Given the description of an element on the screen output the (x, y) to click on. 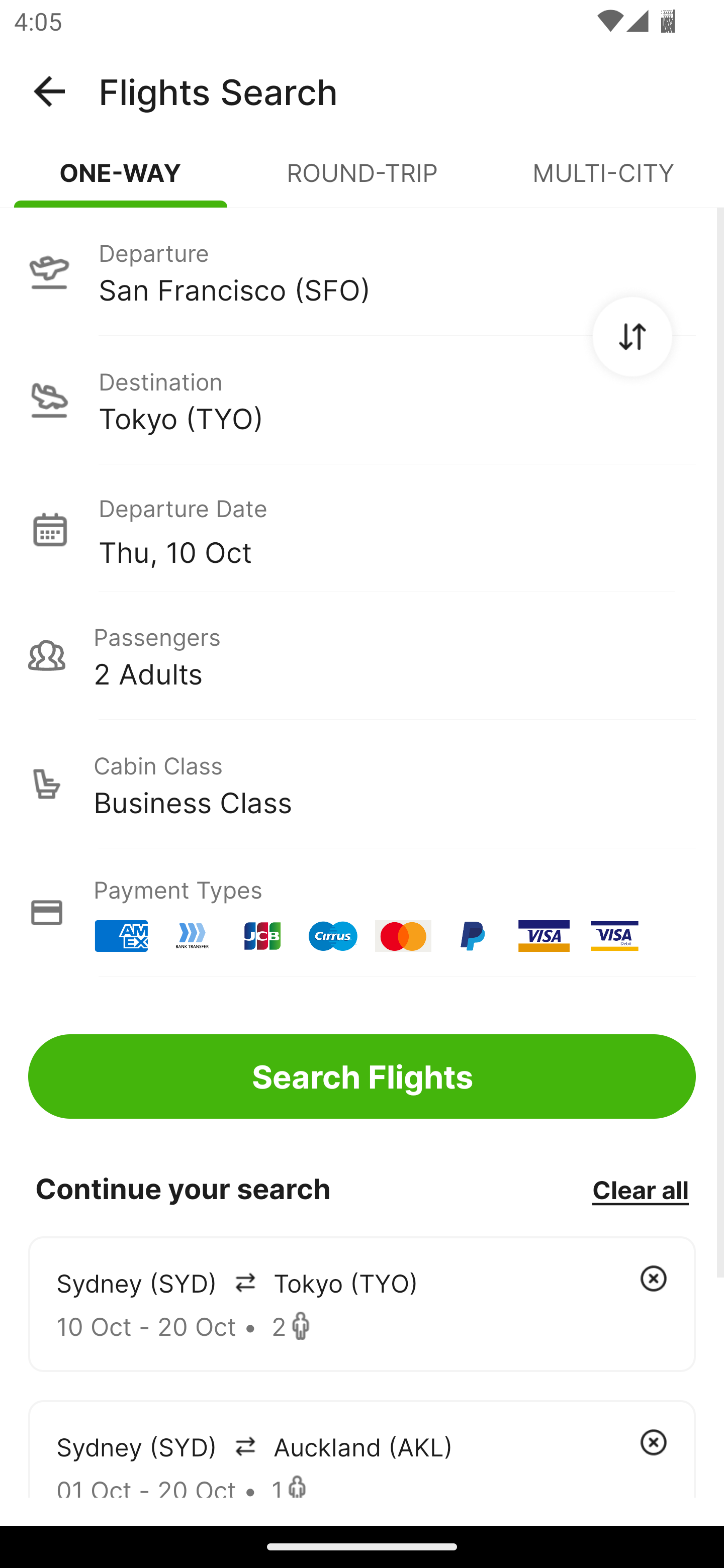
ONE-WAY (120, 180)
ROUND-TRIP (361, 180)
MULTI-CITY (603, 180)
Departure San Francisco (SFO) (362, 270)
Destination Tokyo (TYO) (362, 400)
Departure Date Thu, 10 Oct (396, 528)
Passengers 2 Adults (362, 655)
Cabin Class Business Class (362, 783)
Payment Types (362, 912)
Search Flights (361, 1075)
Clear all (640, 1189)
